Given the description of an element on the screen output the (x, y) to click on. 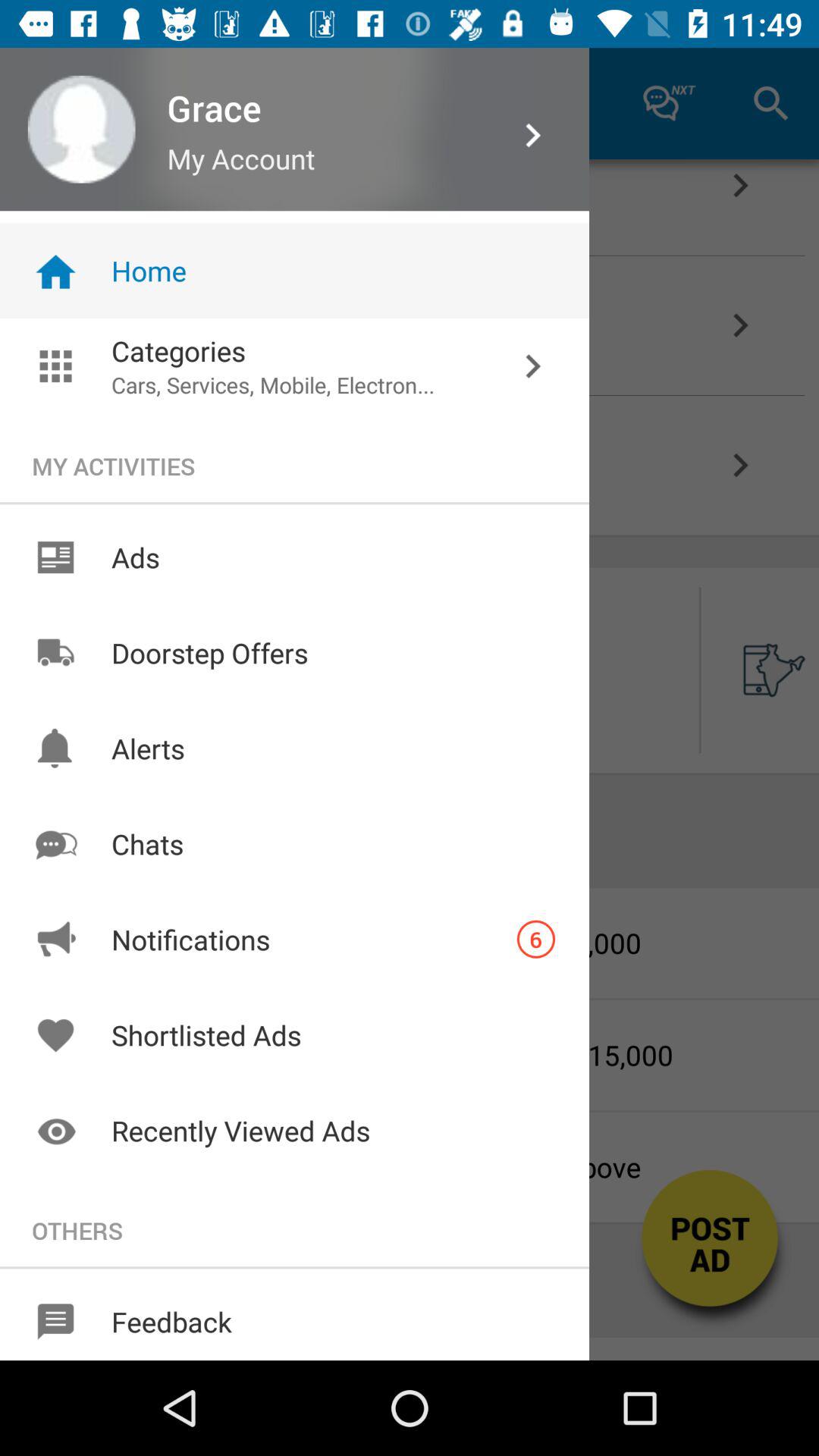
click the alerts option (55, 749)
click on the button on my account (293, 102)
icon left to search icon at the top right corner (669, 103)
select the icon which is left side of the doorstep offers (55, 652)
click the button on the bottom right corner of the web page (711, 1252)
the arrow mark icon shown to the right of my account (533, 135)
click on the logo which has the text ads mentioned next to it (55, 557)
